Given the description of an element on the screen output the (x, y) to click on. 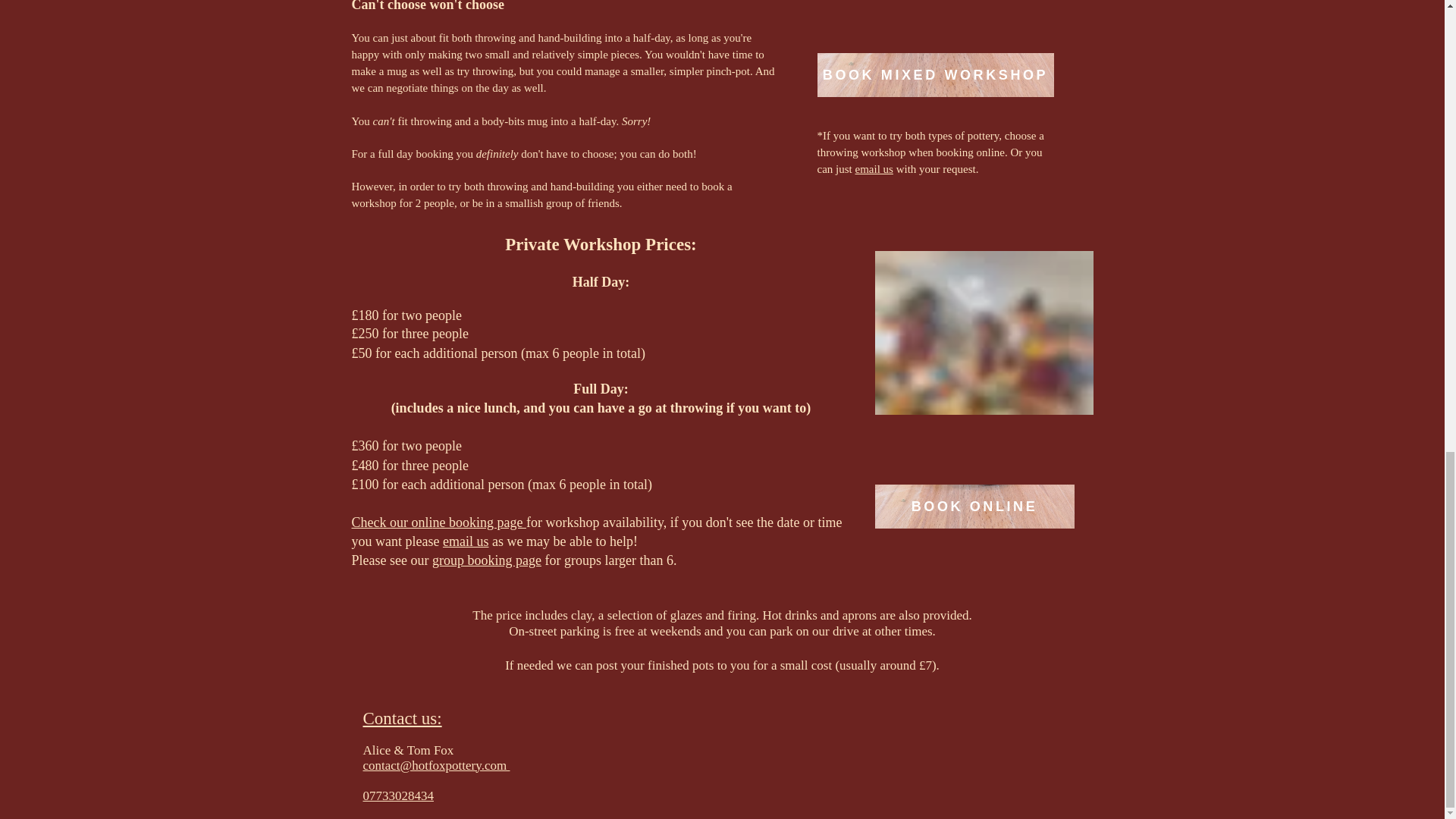
Check our online booking page  (438, 522)
email us (874, 168)
Contact us: (401, 718)
group booking page (486, 560)
BOOK ONLINE (974, 506)
07733028434 (397, 795)
BOOK MIXED WORKSHOP (935, 75)
email us (465, 540)
